Given the description of an element on the screen output the (x, y) to click on. 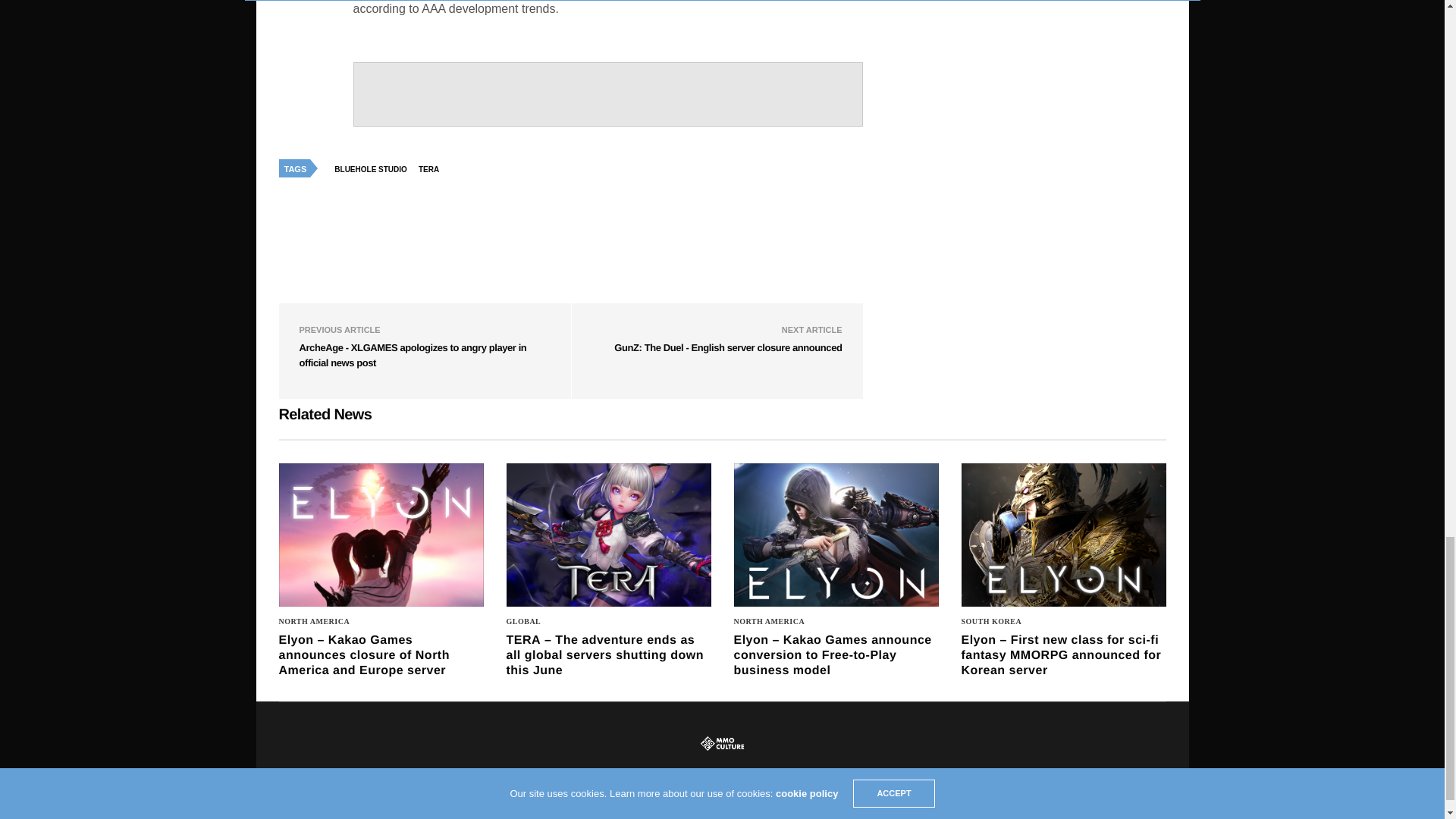
North America (314, 621)
